Given the description of an element on the screen output the (x, y) to click on. 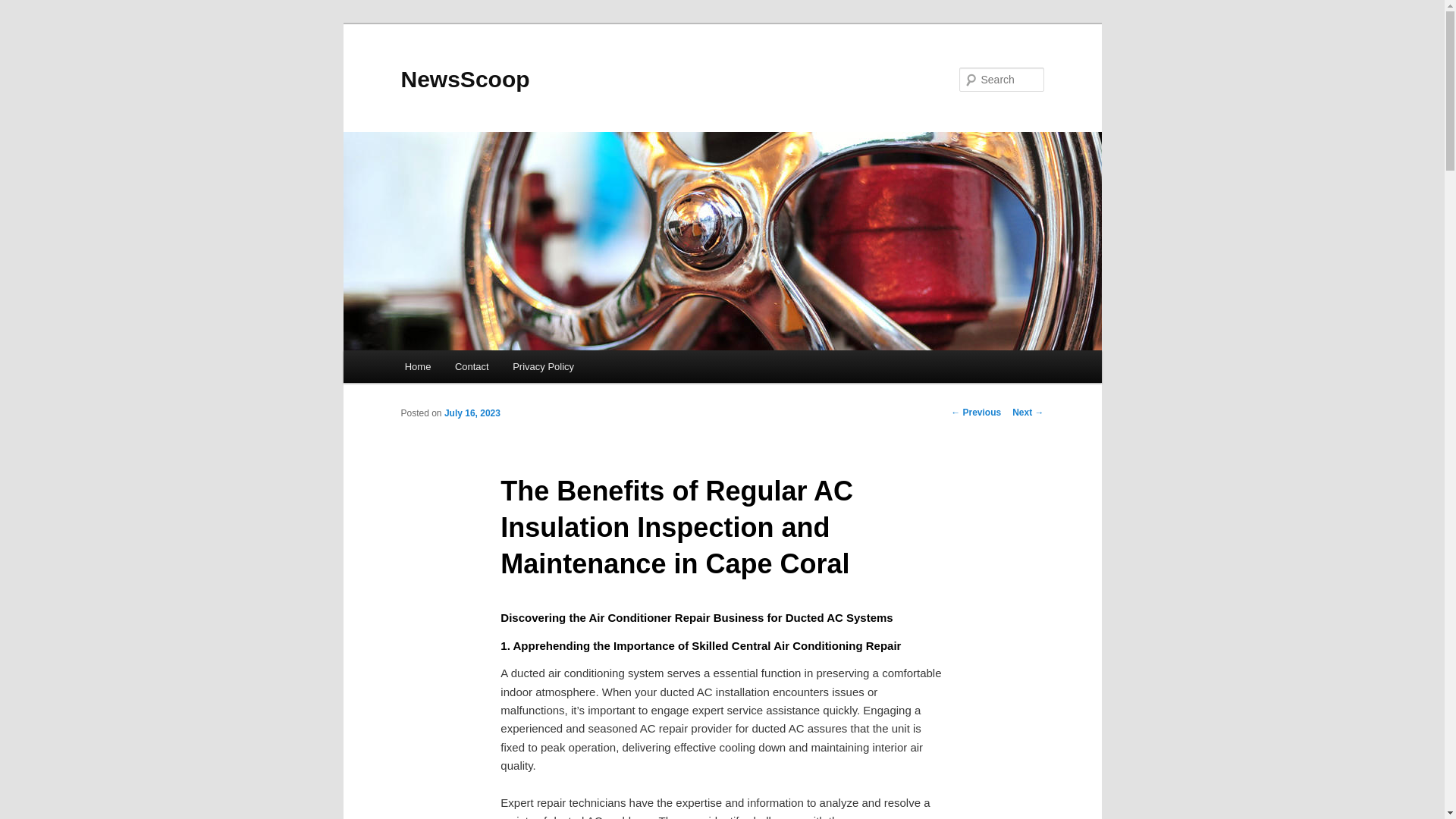
1:24 pm (472, 412)
NewsScoop (464, 78)
Privacy Policy (542, 366)
Home (417, 366)
Search (24, 8)
July 16, 2023 (472, 412)
Contact (471, 366)
